Given the description of an element on the screen output the (x, y) to click on. 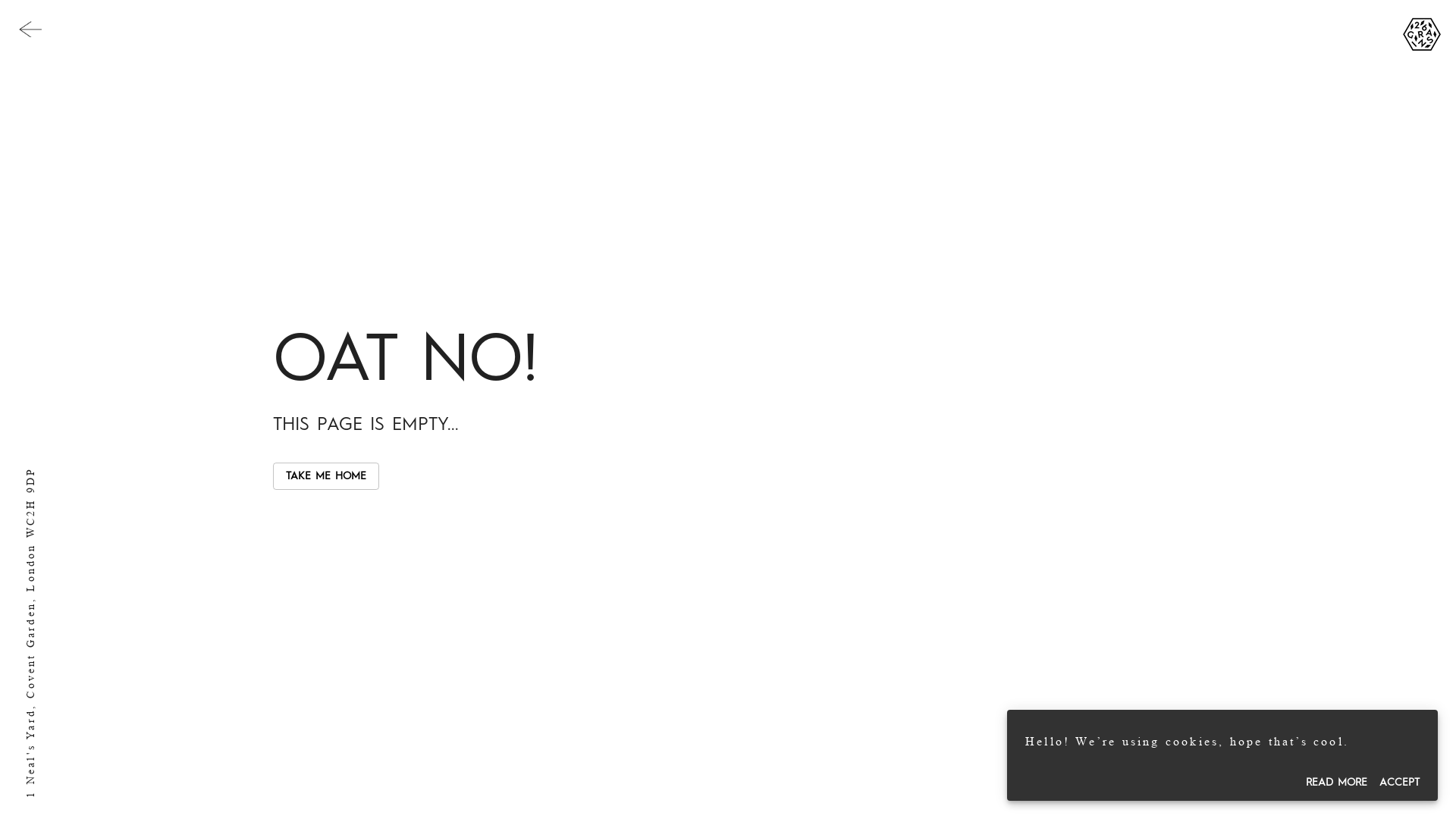
ACCEPT Element type: text (1399, 782)
READ MORE Element type: text (1336, 782)
TAKE ME HOME Element type: text (326, 476)
